Given the description of an element on the screen output the (x, y) to click on. 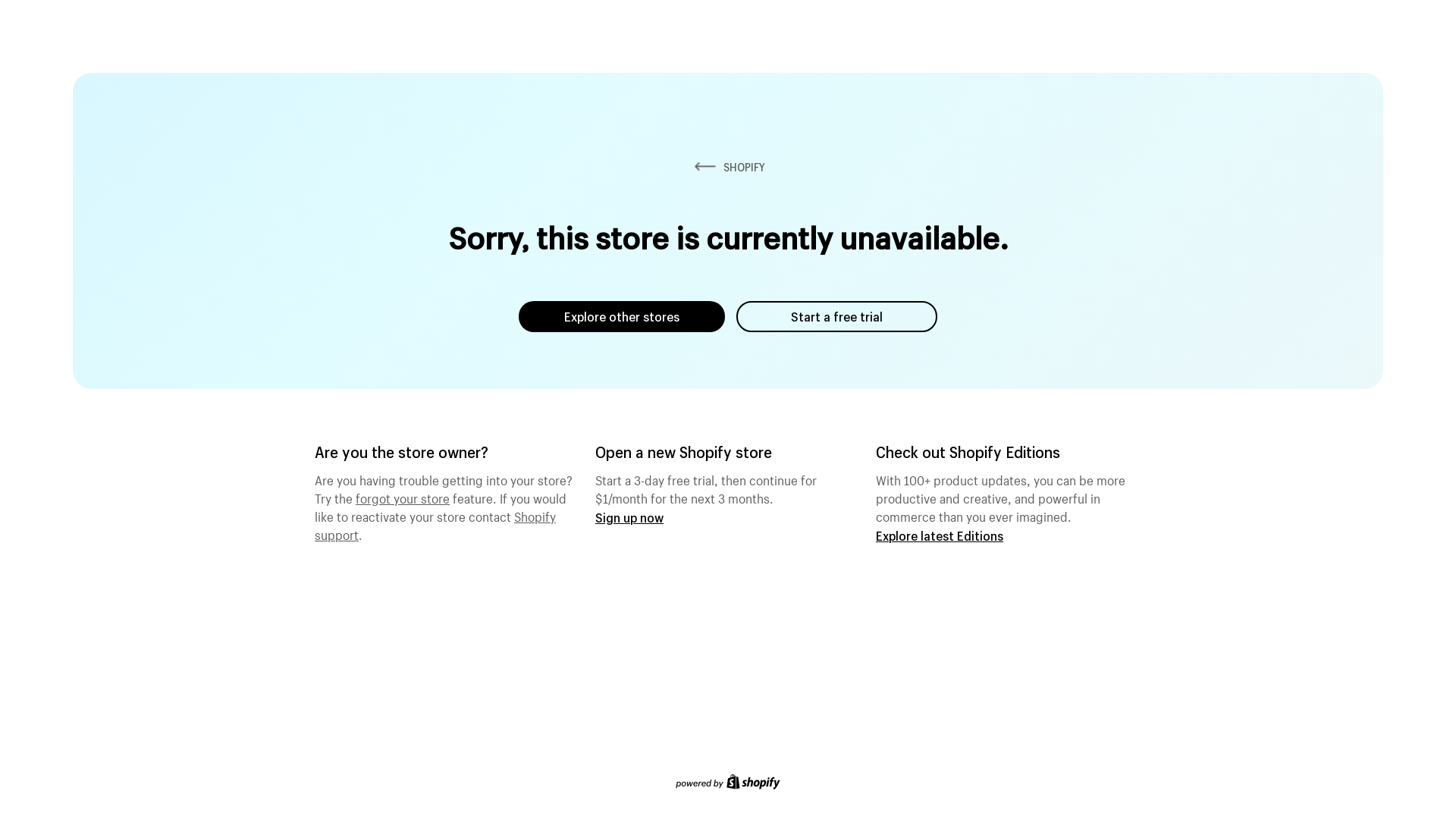
Explore other stores Element type: text (621, 316)
Sign up now Element type: text (629, 517)
Shopify support Element type: text (434, 523)
forgot your store Element type: text (402, 496)
SHOPIFY Element type: text (727, 167)
Explore latest Editions Element type: text (939, 535)
Start a free trial Element type: text (836, 316)
